Given the description of an element on the screen output the (x, y) to click on. 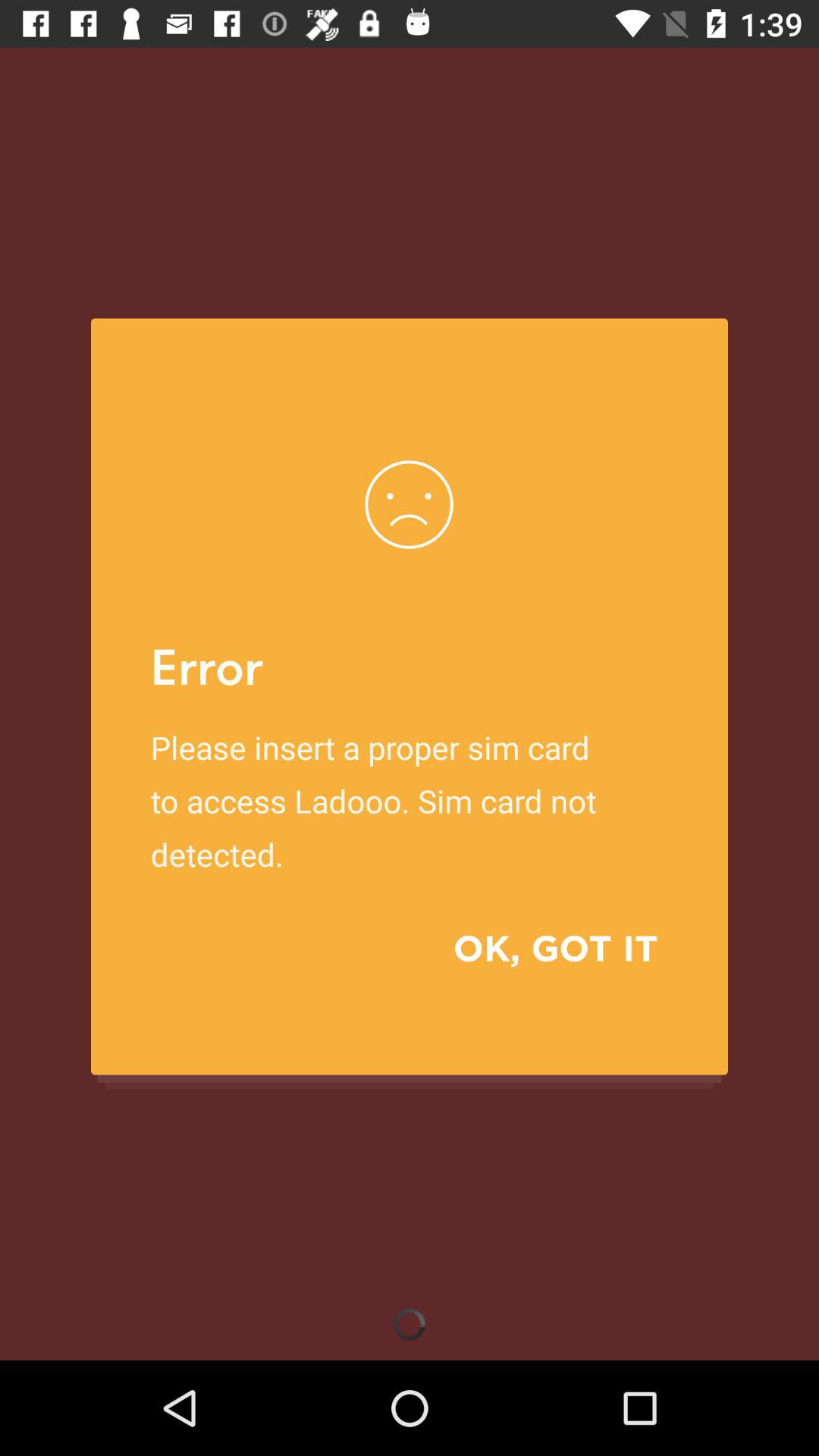
launch ok, got it (533, 947)
